Given the description of an element on the screen output the (x, y) to click on. 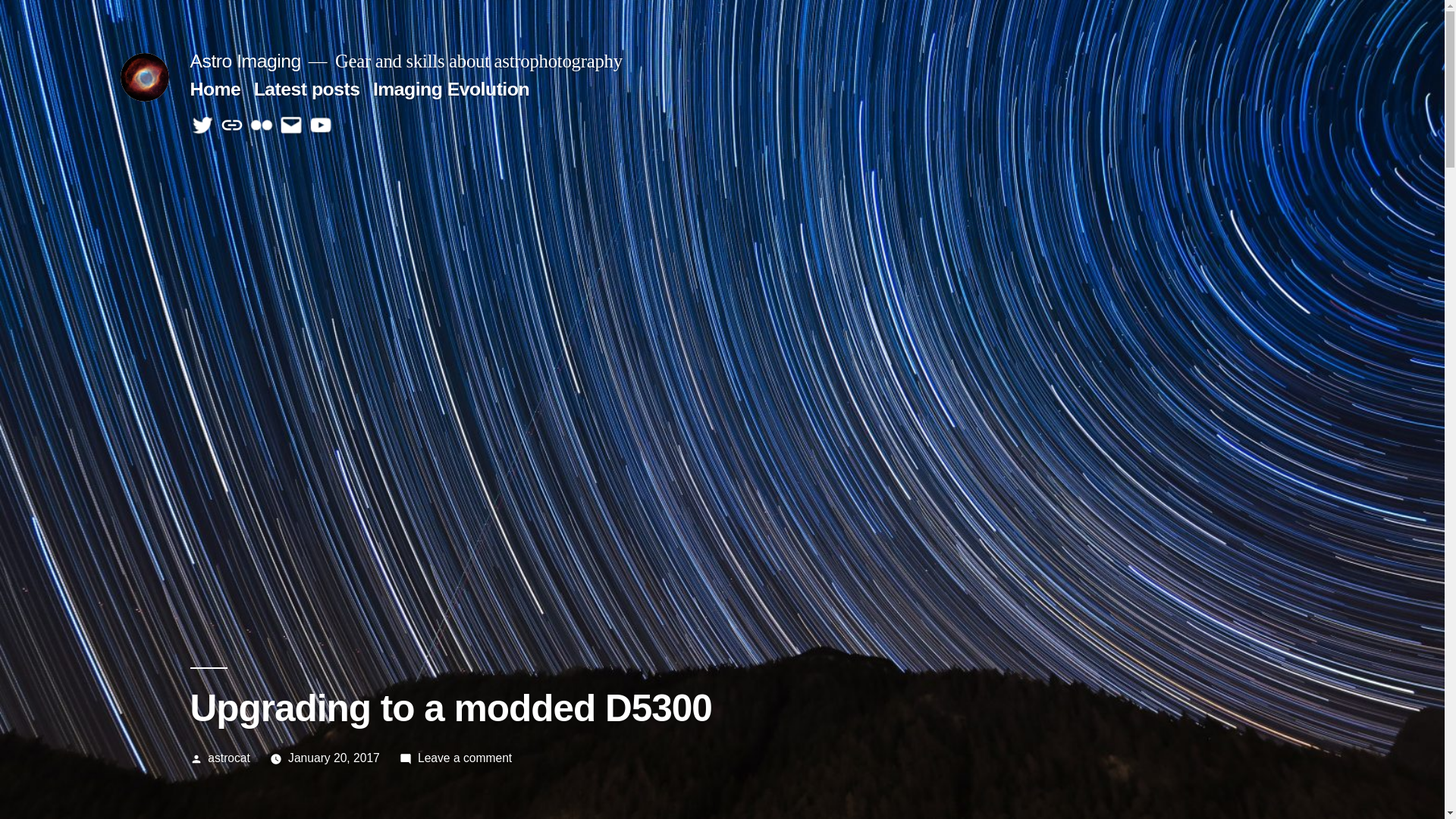
Latest posts Element type: text (307, 88)
astrocat Element type: text (228, 757)
discord Element type: text (231, 125)
twitter Element type: text (201, 125)
Leave a comment
on Upgrading to a modded D5300 Element type: text (464, 757)
Home Element type: text (214, 88)
Youtube Element type: text (320, 125)
flickr Element type: text (261, 125)
email Element type: text (291, 125)
Astro Imaging Element type: text (244, 60)
January 20, 2017 Element type: text (333, 757)
Imaging Evolution Element type: text (451, 88)
